Given the description of an element on the screen output the (x, y) to click on. 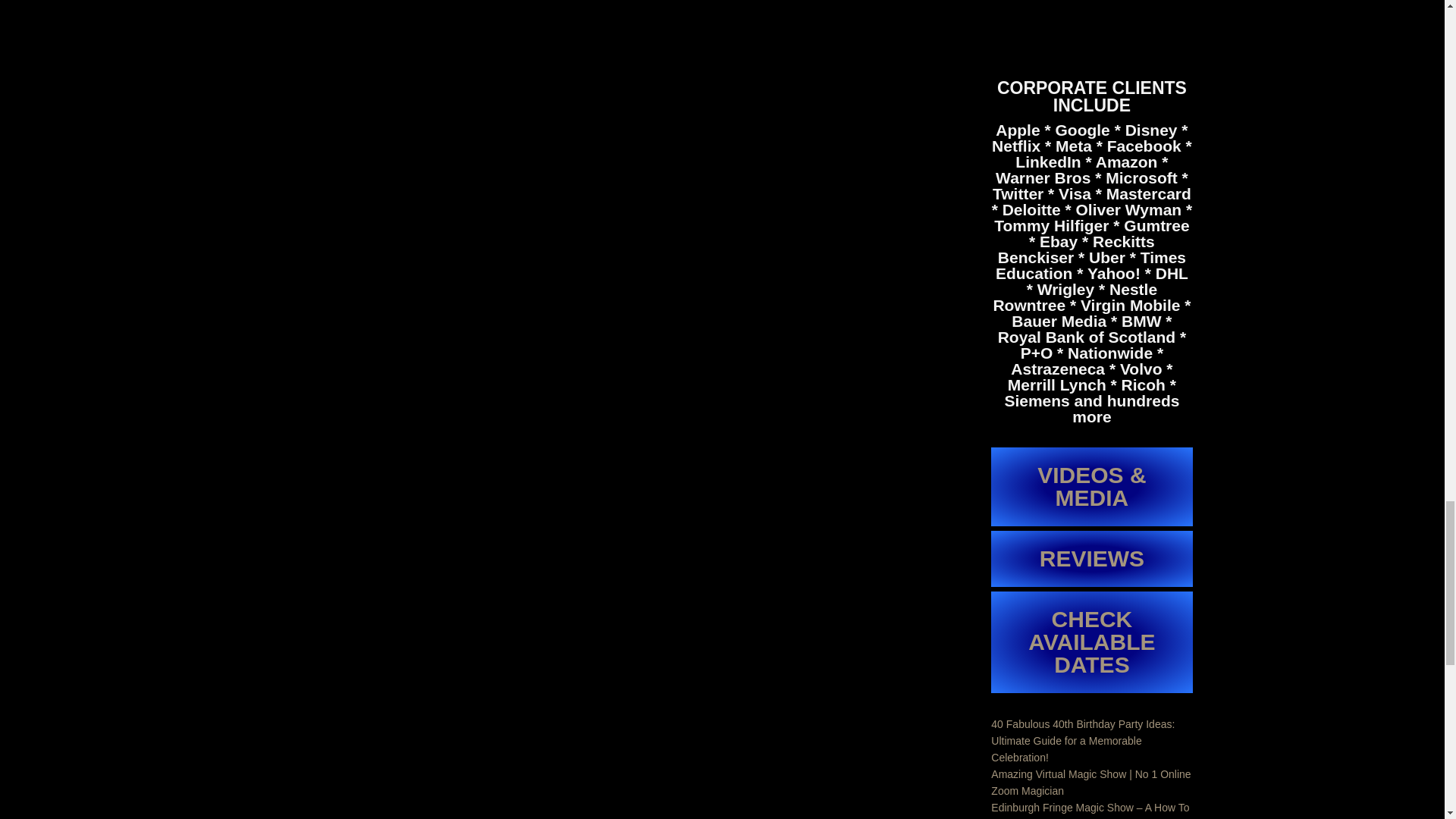
REVIEWS (1091, 558)
CHECK AVAILABLE DATES (1091, 641)
